Given the description of an element on the screen output the (x, y) to click on. 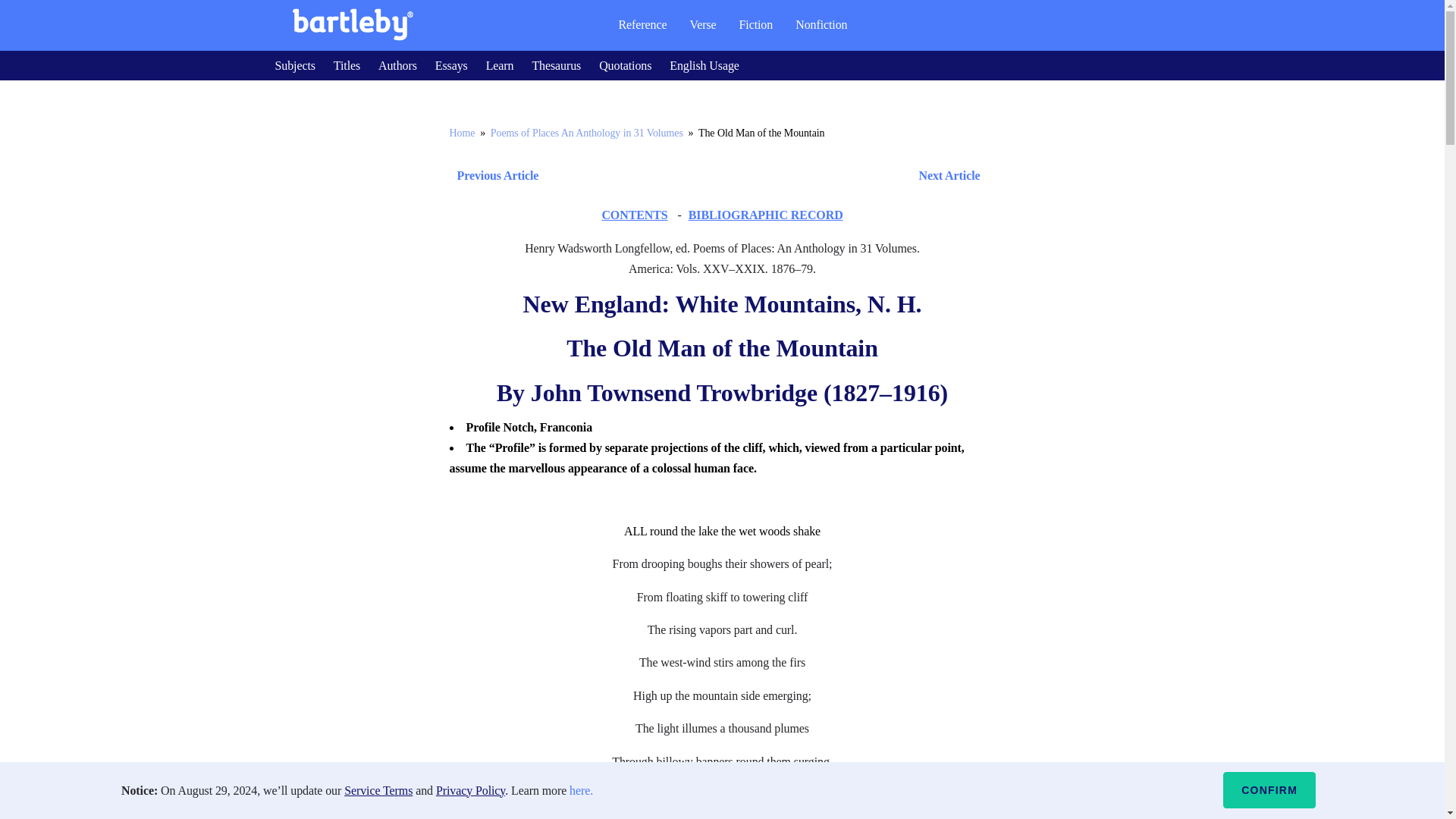
Authors (397, 65)
Nonfiction (821, 24)
Essays (451, 65)
Learn (499, 65)
Home (461, 132)
BIBLIOGRAPHIC RECORD (765, 214)
Verse (702, 24)
Fiction (756, 24)
Poems of Places An Anthology in 31 Volumes (586, 132)
Thesaurus (555, 65)
Titles (346, 65)
CONTENTS (633, 214)
English Usage (704, 65)
Subjects (294, 65)
Previous Article (493, 175)
